Given the description of an element on the screen output the (x, y) to click on. 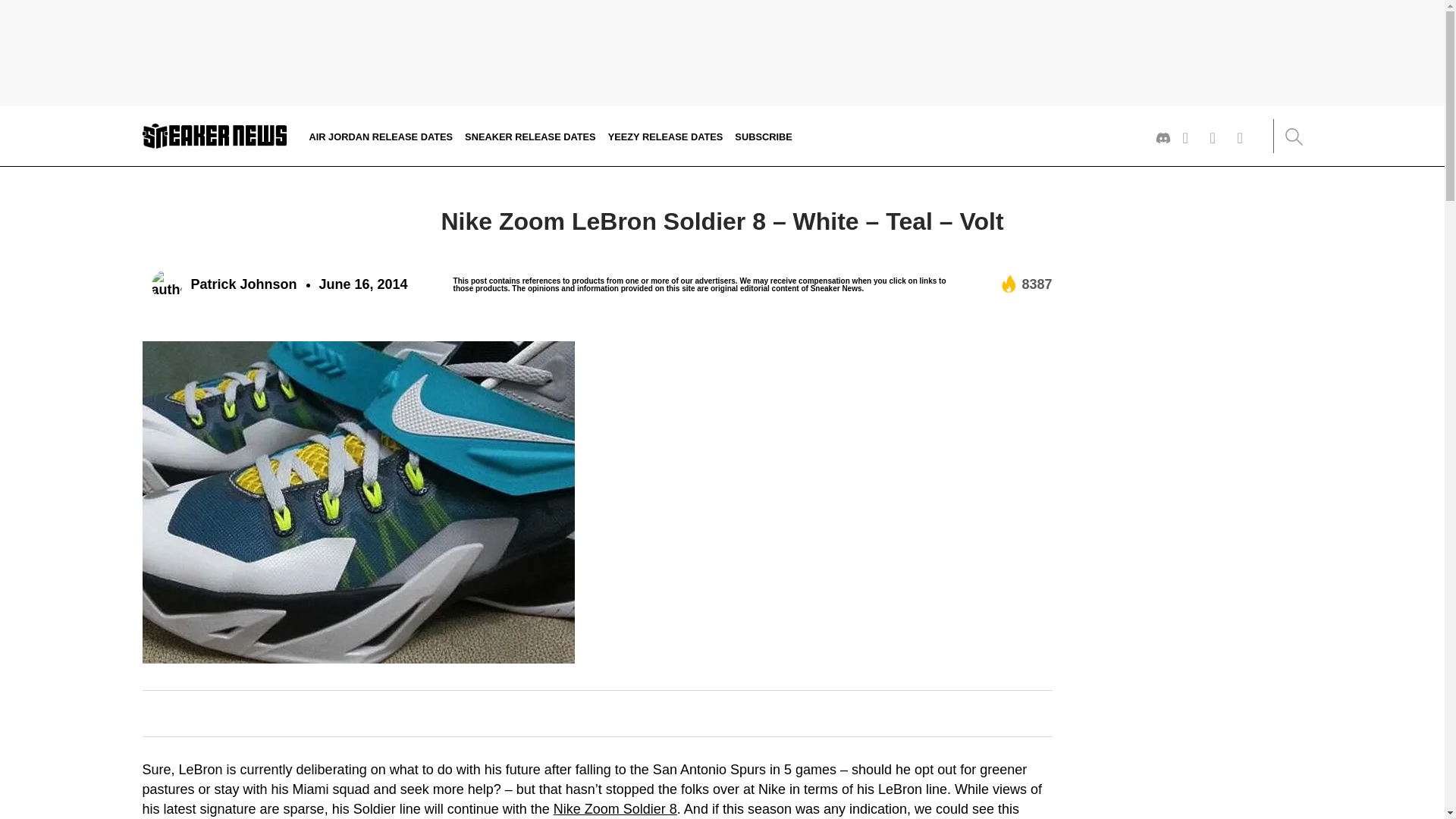
Facebook (1244, 137)
Twitter (1190, 137)
SUBSCRIBE (763, 135)
SNEAKER RELEASE DATES (529, 135)
Nike Zoom Soldier 8 (615, 808)
Search (1292, 136)
Skip to main content (4, 121)
YEEZY RELEASE DATES (665, 135)
Discord (1163, 137)
Patrick Johnson (224, 285)
